Given the description of an element on the screen output the (x, y) to click on. 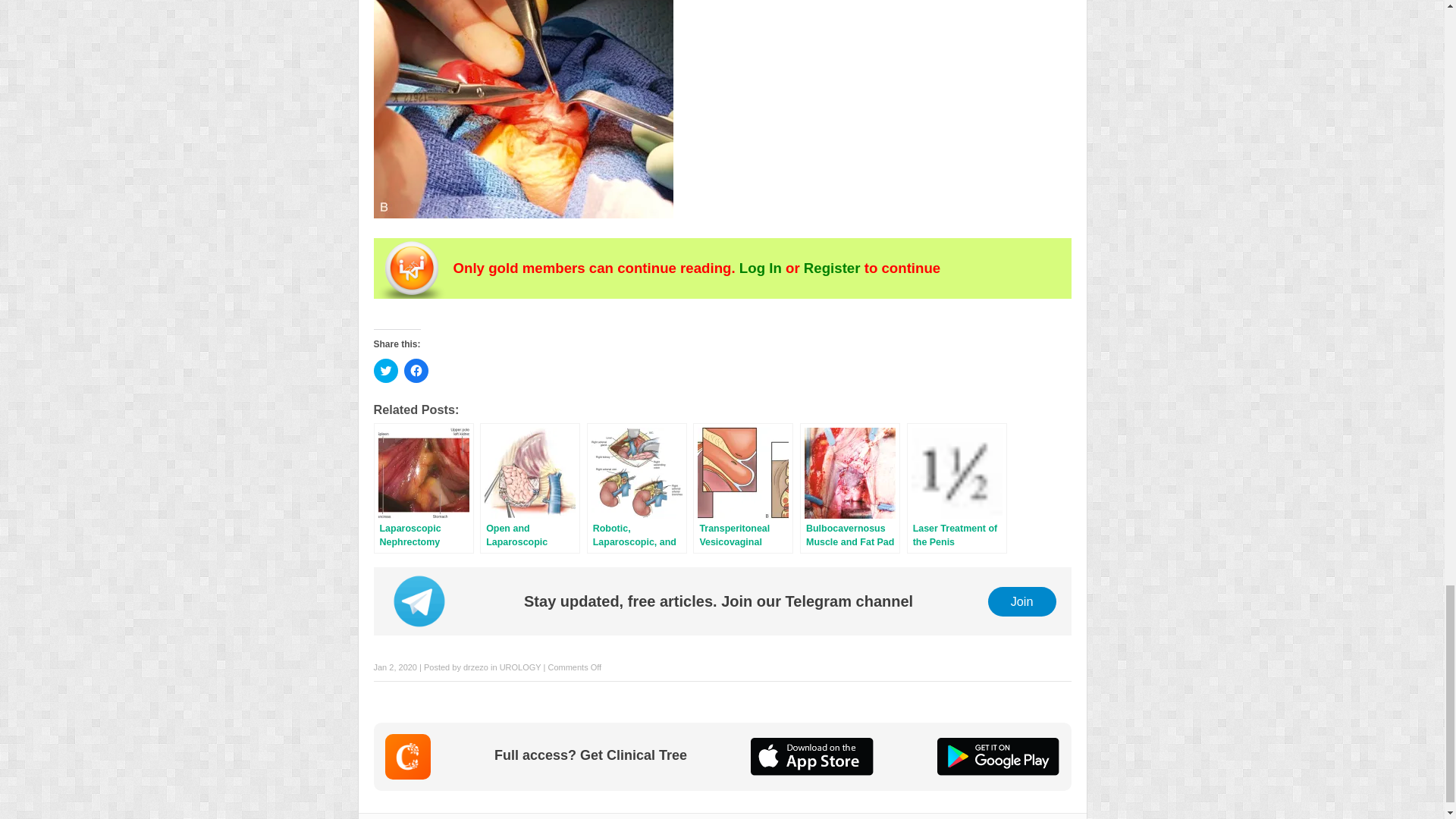
Posts by drzezo (475, 666)
Click to share on Facebook (415, 370)
Click to share on Twitter (384, 370)
